Given the description of an element on the screen output the (x, y) to click on. 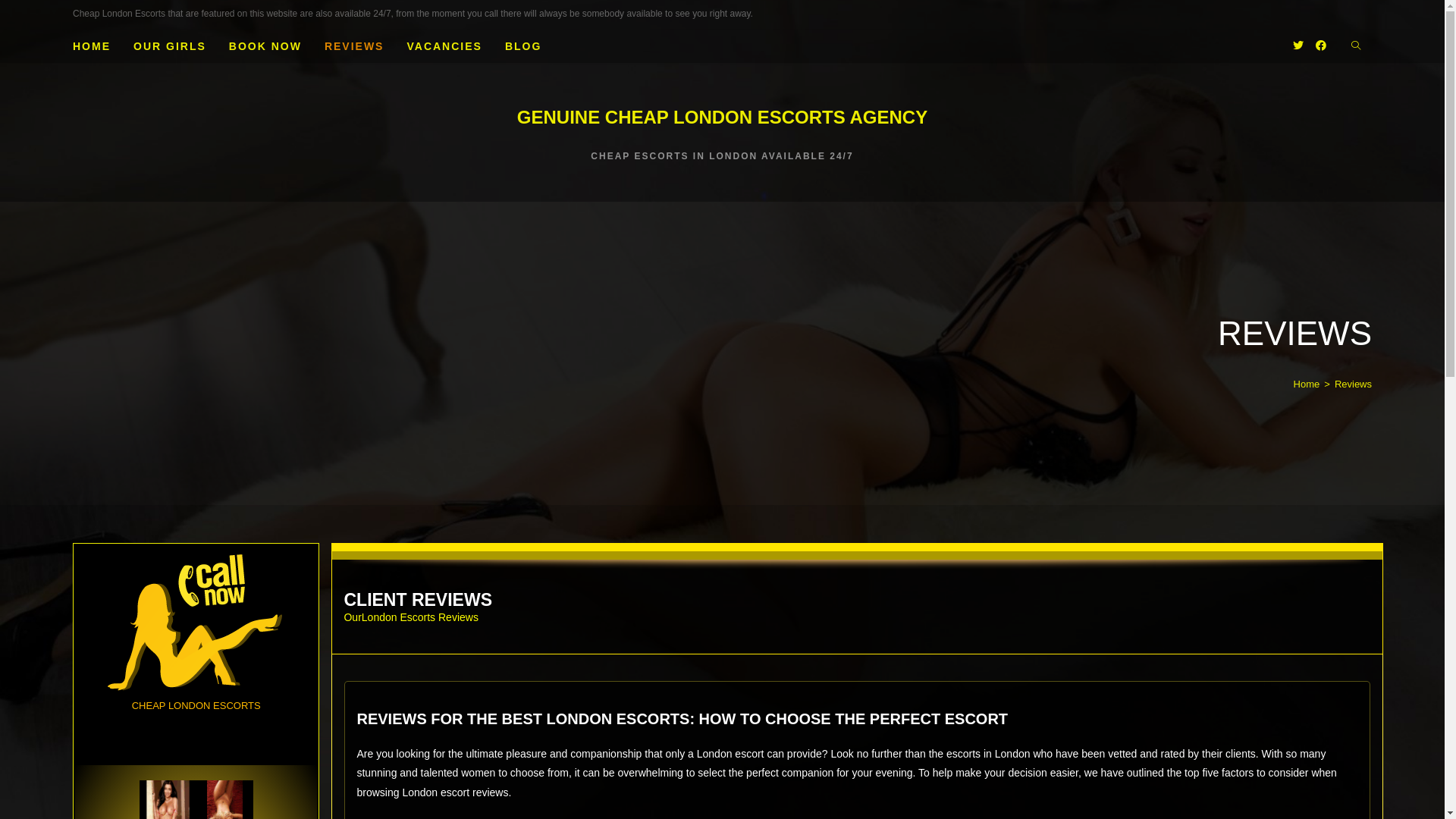
REVIEWS Element type: text (354, 45)
BOOK NOW Element type: text (265, 45)
GENUINE CHEAP LONDON ESCORTS AGENCY Element type: text (722, 116)
BLOG Element type: text (522, 45)
HOME Element type: text (91, 45)
OUR GIRLS Element type: text (169, 45)
VACANCIES Element type: text (443, 45)
Home Element type: text (1306, 383)
Reviews Element type: text (1352, 383)
